Given the description of an element on the screen output the (x, y) to click on. 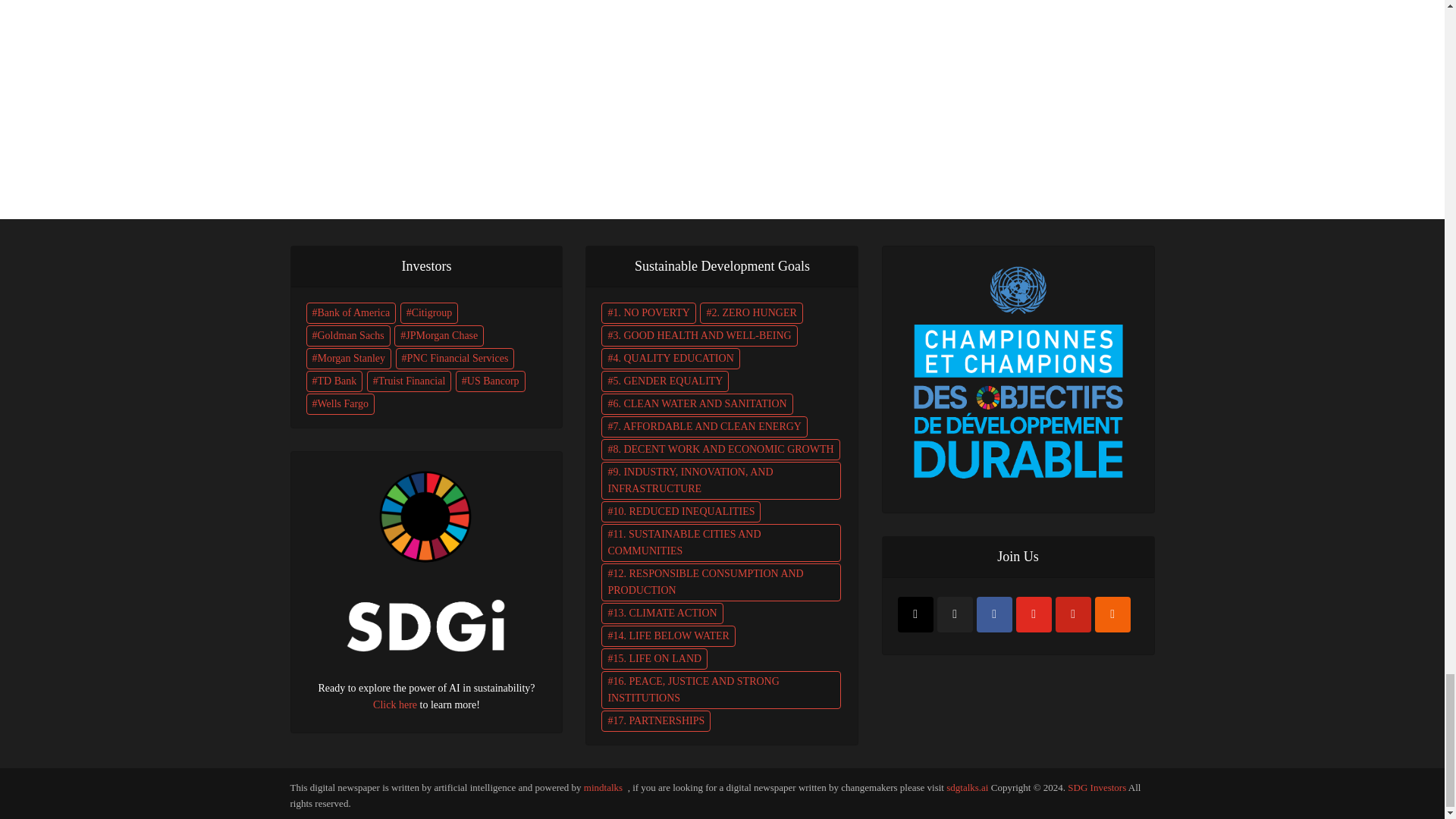
Go to SDG Compass (1018, 368)
Facebook (993, 614)
YouTube (1033, 614)
RSS (1112, 614)
Instagram (915, 614)
Pinterest (1072, 614)
